Given the description of an element on the screen output the (x, y) to click on. 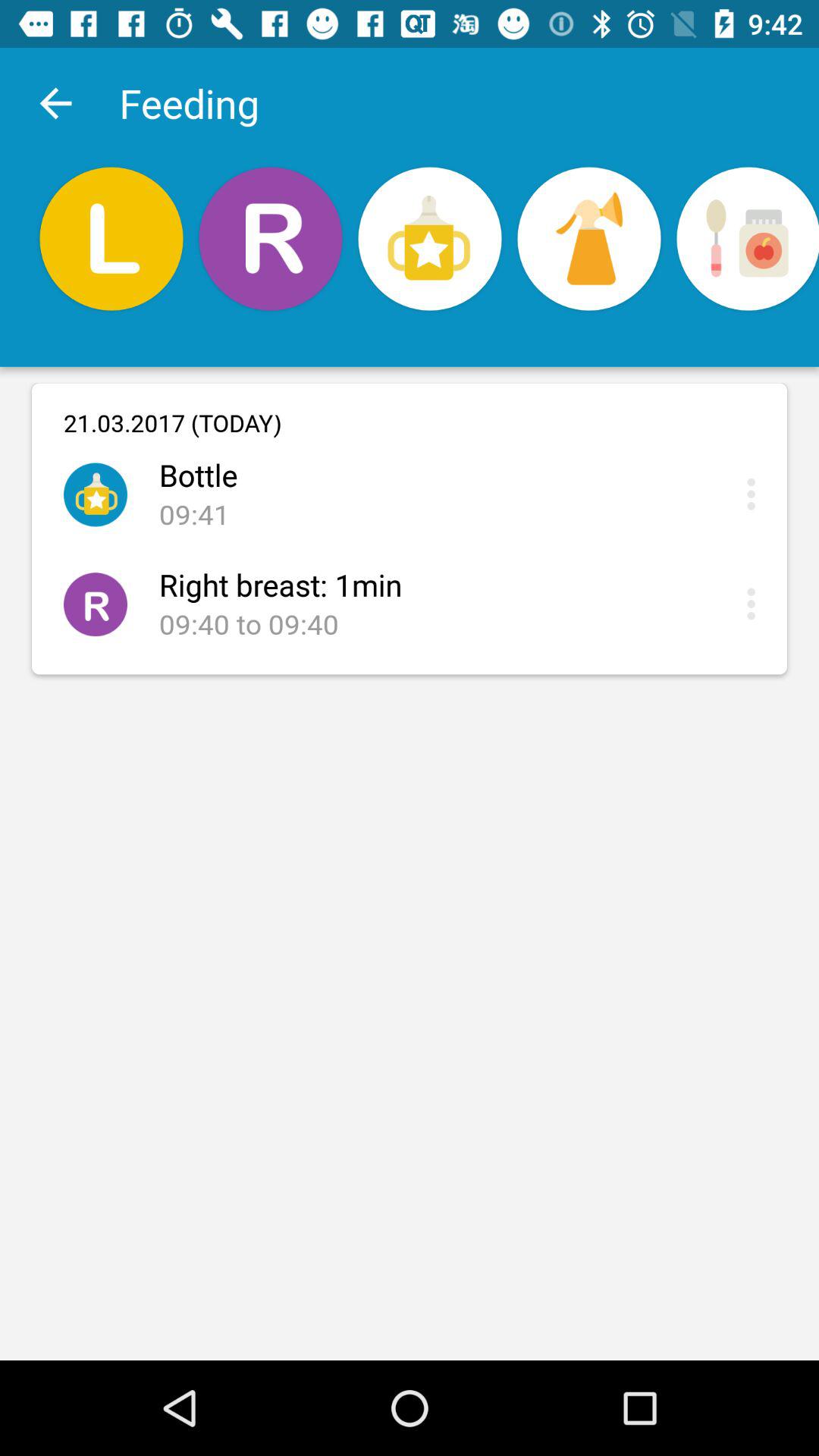
open more options (755, 603)
